Given the description of an element on the screen output the (x, y) to click on. 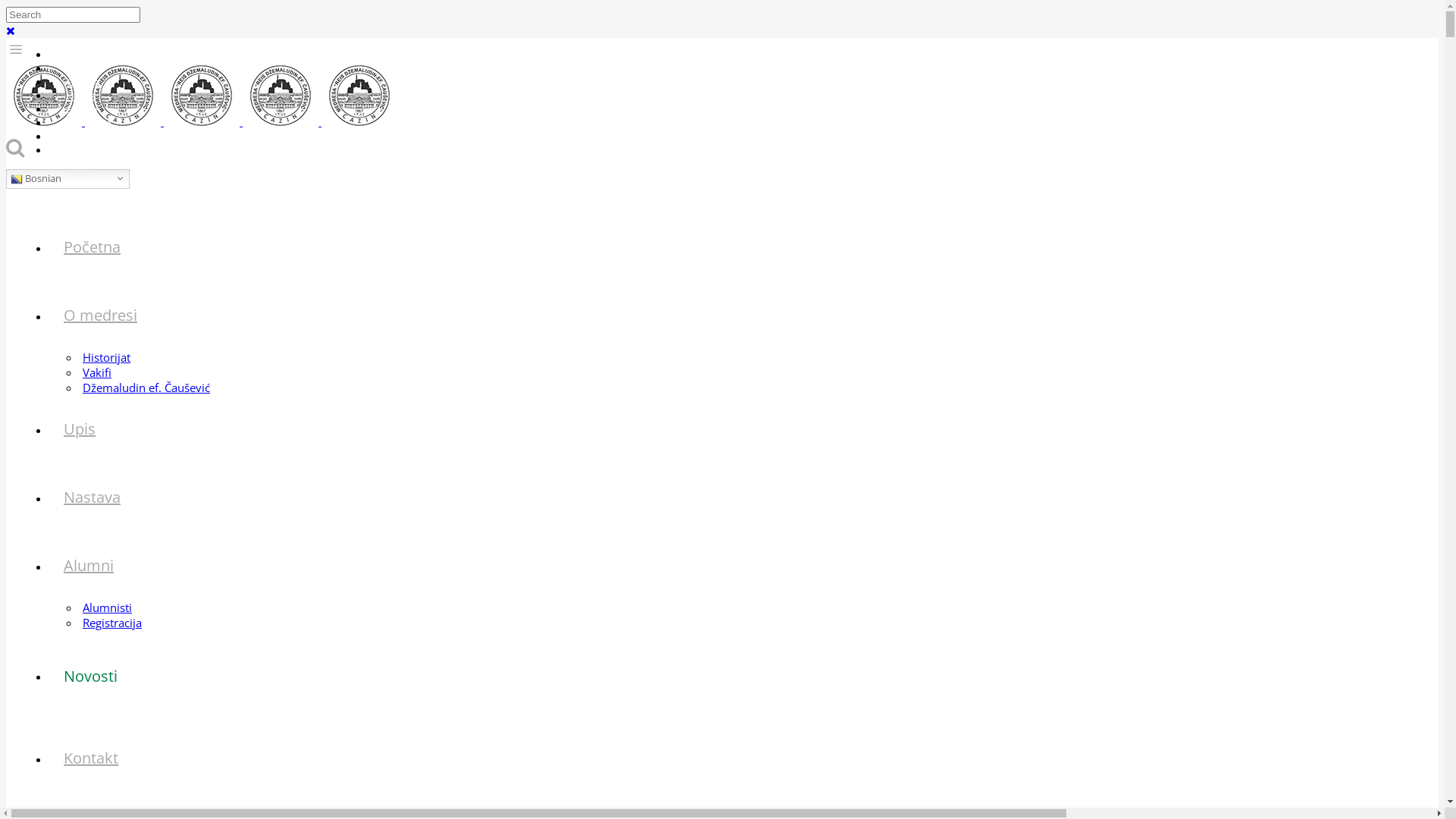
Hutbe Element type: text (72, 95)
Galerija Element type: text (75, 81)
Prijava Element type: text (73, 149)
Novosti Element type: text (90, 675)
Historijat Element type: text (106, 356)
Bosnian Element type: text (67, 178)
Registracija Element type: text (111, 622)
Kontakt Element type: text (90, 757)
Alumni Element type: text (88, 565)
Ekskurzija Element type: text (80, 122)
O medresi Element type: text (100, 314)
Arhiva Element type: text (72, 68)
Nastava Element type: text (91, 496)
eDnevnik Element type: text (79, 54)
Vakifi Element type: text (96, 371)
Alumnisti Element type: text (106, 607)
Upis Element type: text (79, 428)
Sekcije Element type: text (73, 109)
